Given the description of an element on the screen output the (x, y) to click on. 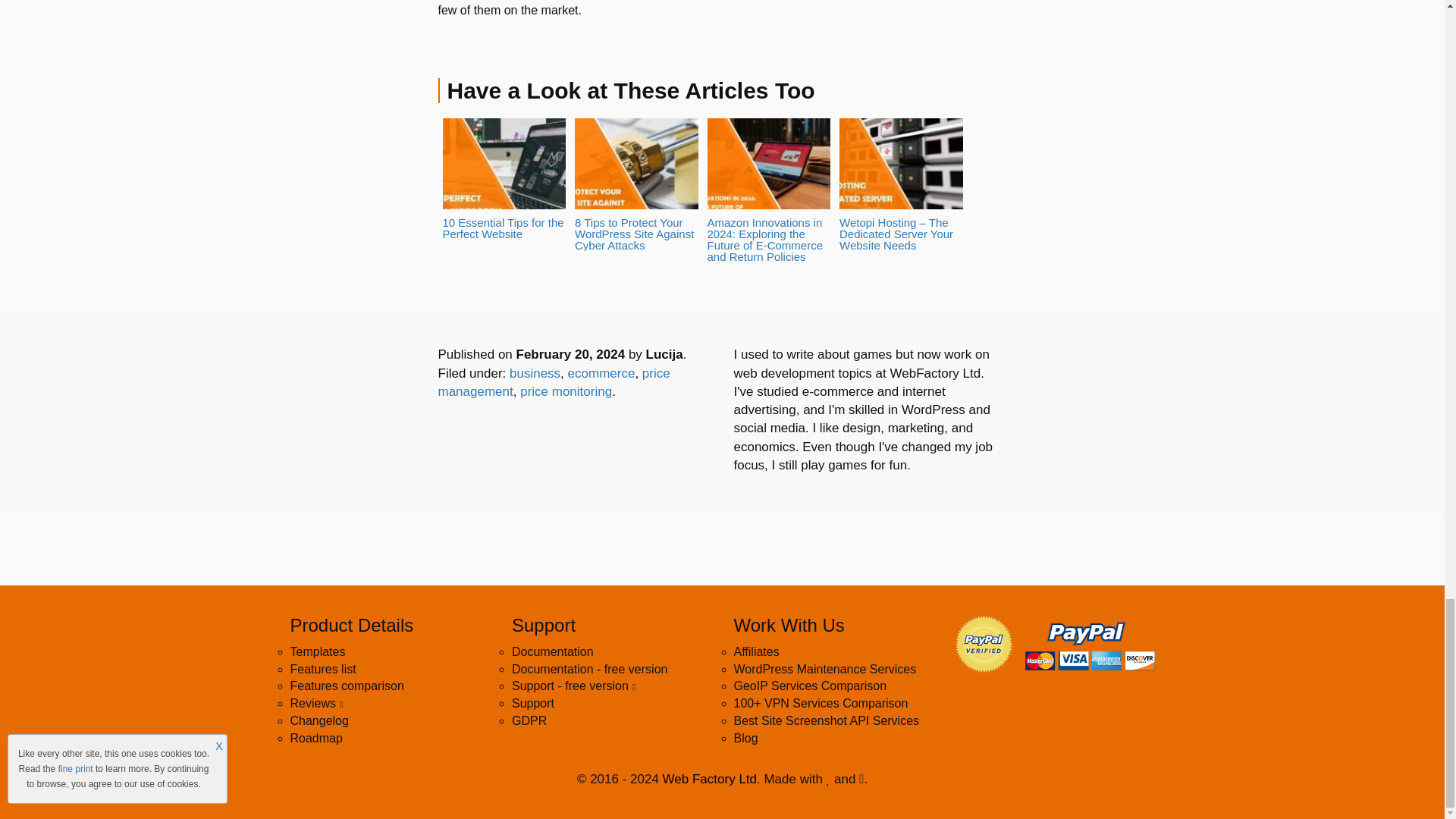
Templates (317, 651)
business (534, 373)
ecommerce (600, 373)
Support (533, 703)
Features comparison (346, 685)
GDPR (529, 720)
GeoIP Services Comparison (809, 685)
Best Site Screenshot API Services (826, 720)
Roadmap (315, 738)
price monitoring (565, 391)
WordPress Maintenance Services (825, 668)
Features list (322, 668)
Reviews (315, 703)
price management (553, 382)
Changelog (318, 720)
